Given the description of an element on the screen output the (x, y) to click on. 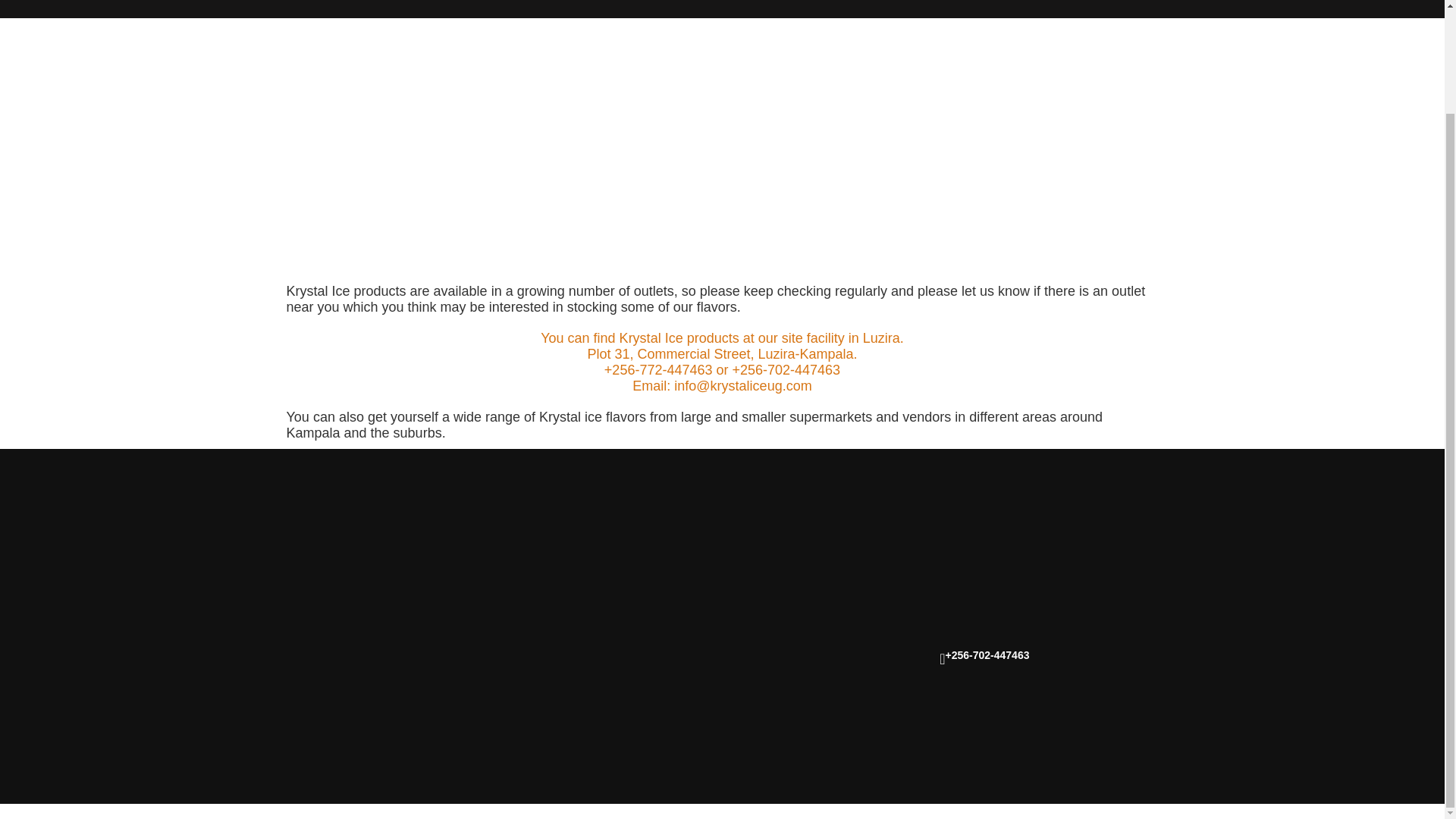
OUR PRODUCTS (899, 9)
HOME (307, 9)
CONTACT US (1140, 9)
OUR BLOG (1025, 9)
KRYSTAL FLAVOURS (589, 9)
WHERE TO BUY (753, 9)
ABOUT KRYSTAL (421, 9)
